Given the description of an element on the screen output the (x, y) to click on. 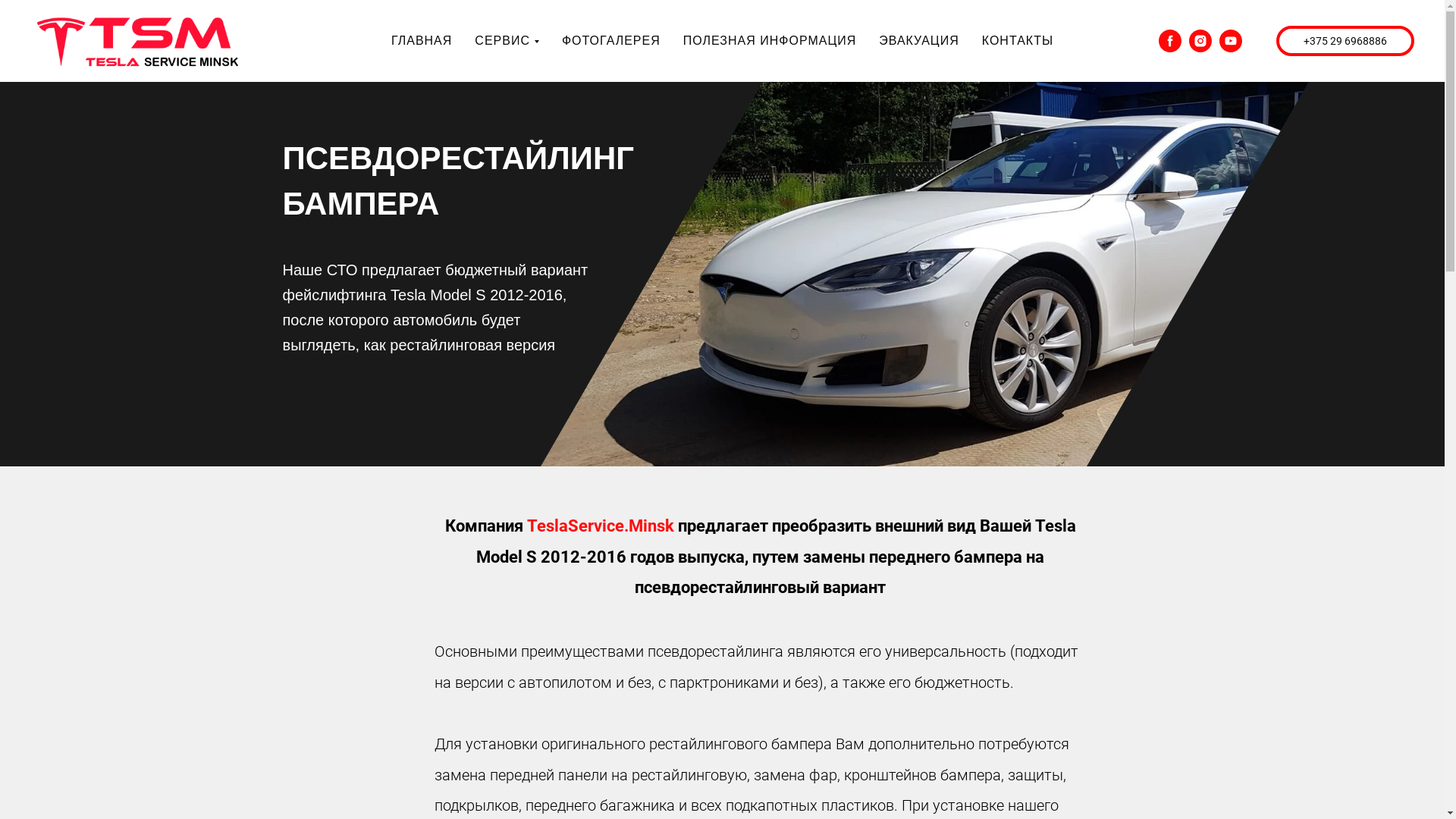
+375 29 6968886 Element type: text (1345, 40)
